Given the description of an element on the screen output the (x, y) to click on. 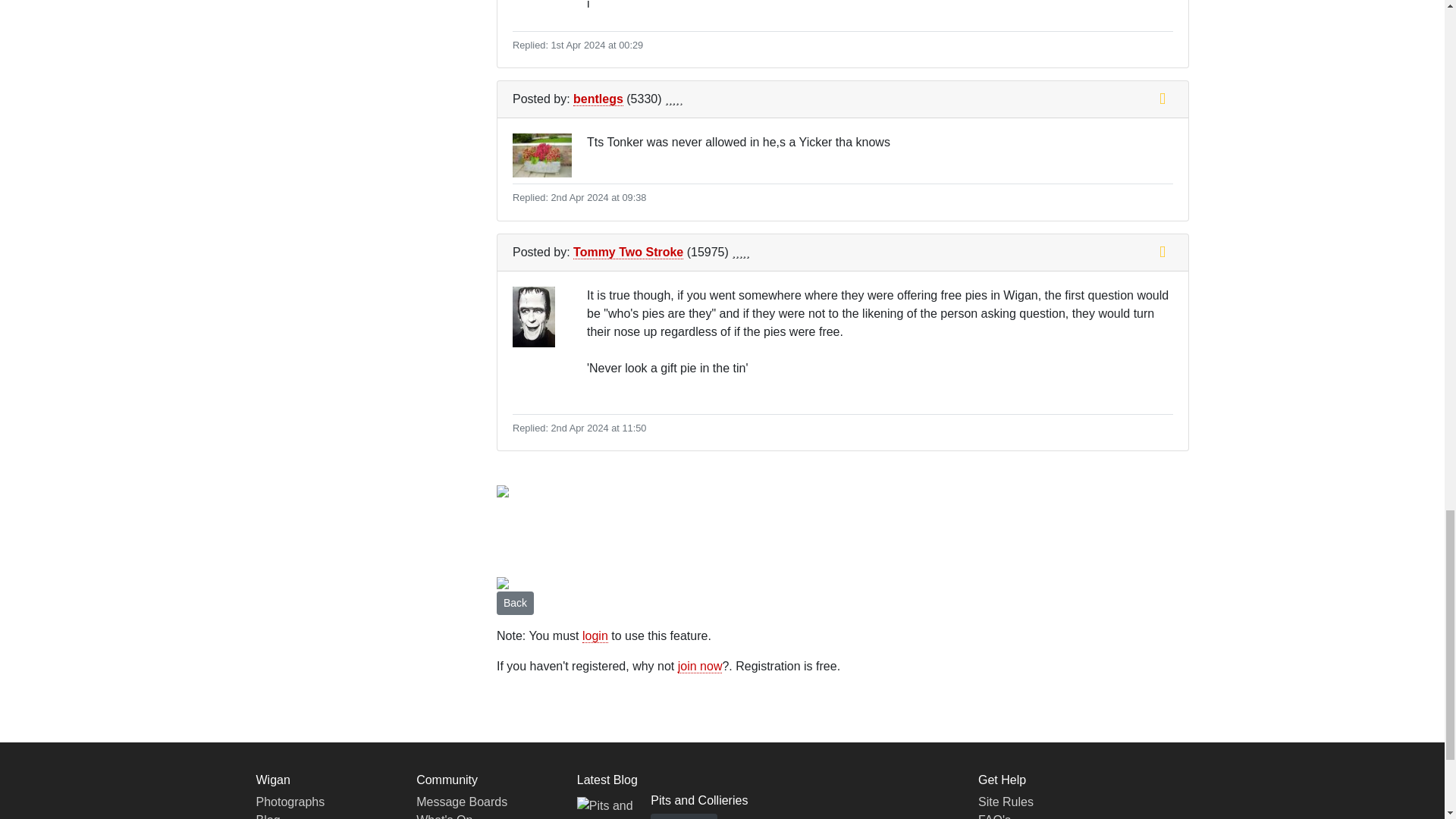
Advertisement (772, 533)
Tommy Two Stroke (627, 252)
bentlegs (598, 99)
